Given the description of an element on the screen output the (x, y) to click on. 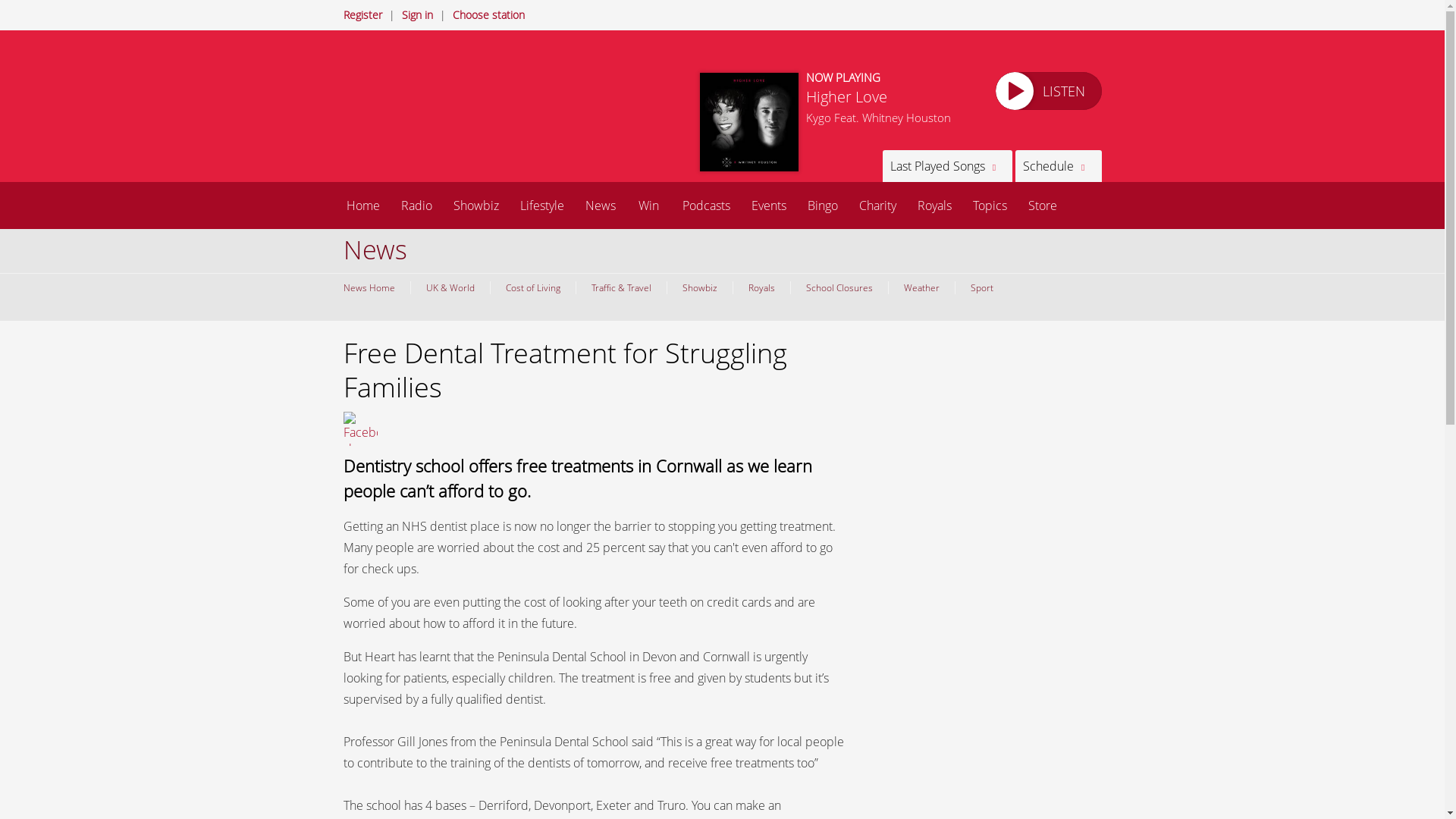
Schedule (1057, 165)
Heart Cornwall (441, 111)
Royals (934, 205)
School Closures (839, 287)
Showbiz (698, 287)
Showbiz (475, 205)
Store (1042, 205)
Lifestyle (542, 205)
Cost of Living (532, 287)
Register (361, 14)
